Given the description of an element on the screen output the (x, y) to click on. 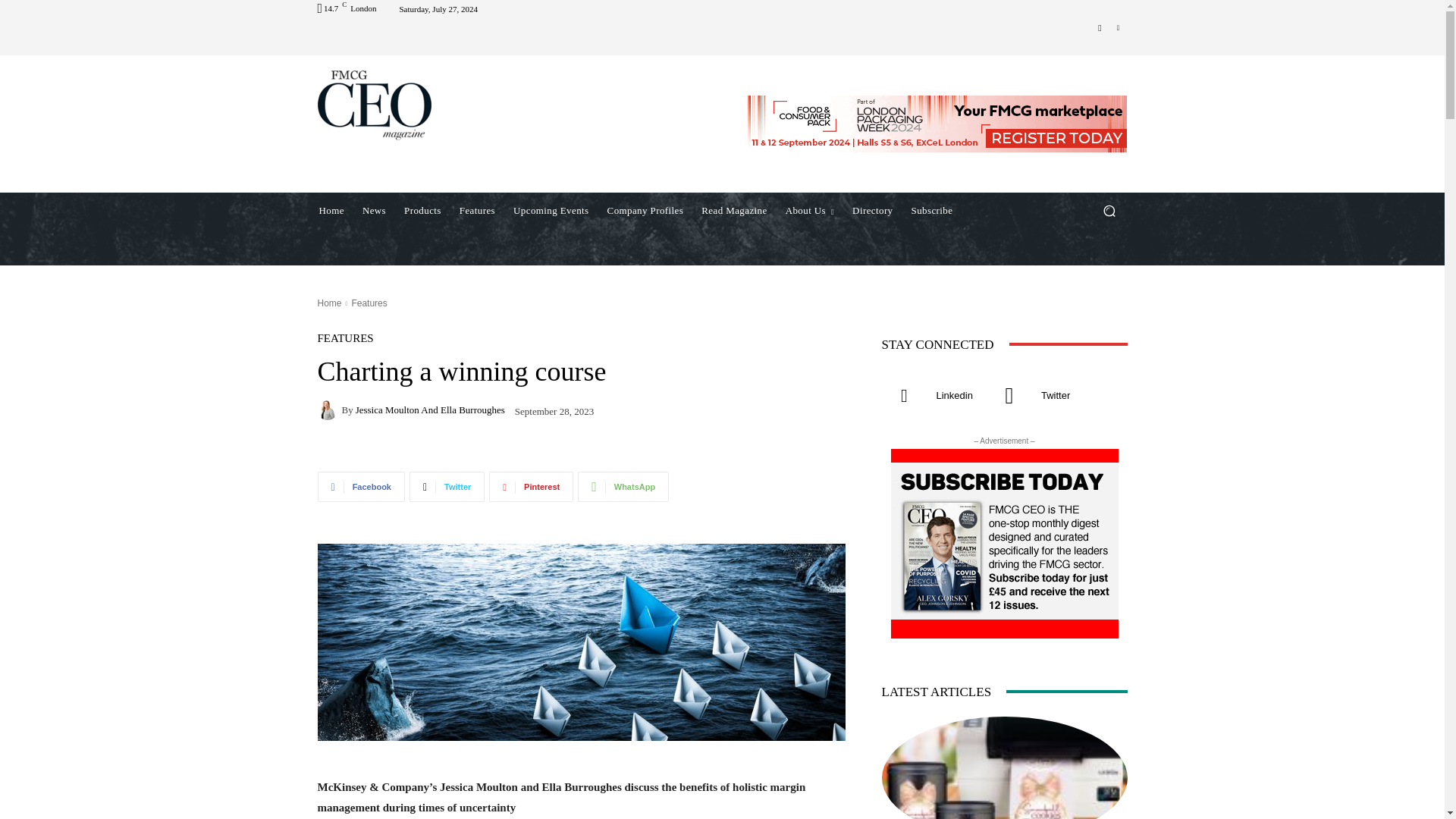
Upcoming Events (550, 210)
Features (476, 210)
Linkedin (1117, 27)
Company Profiles (645, 210)
About Us (809, 210)
View all posts in Features (368, 303)
Jessica Moulton and Ella Burroughes (328, 410)
News (373, 210)
Home (330, 210)
Read Magazine (734, 210)
Products (421, 210)
Twitter (446, 486)
WhatsApp (623, 486)
Twitter (1099, 27)
Pinterest (531, 486)
